Given the description of an element on the screen output the (x, y) to click on. 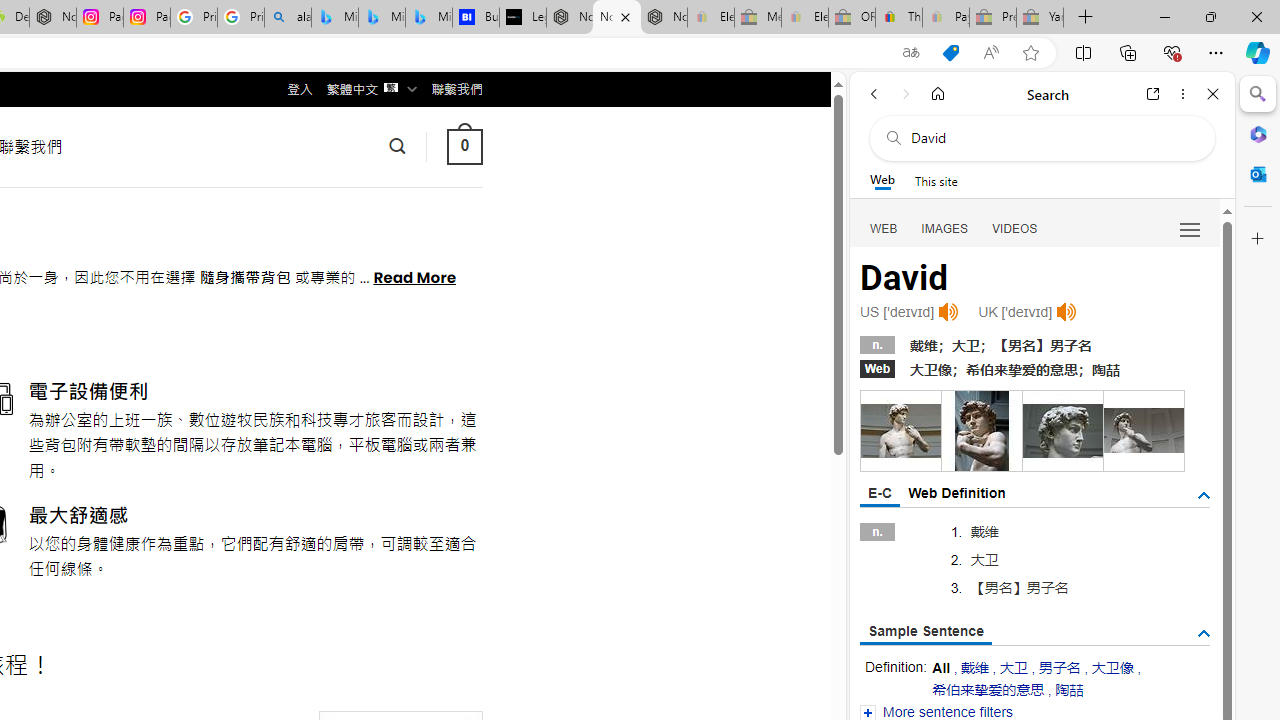
Search Filter, WEB (884, 228)
Read More (414, 276)
This site has coupons! Shopping in Microsoft Edge (950, 53)
VIDEOS (1015, 228)
Payments Terms of Use | eBay.com - Sleeping (945, 17)
